Given the description of an element on the screen output the (x, y) to click on. 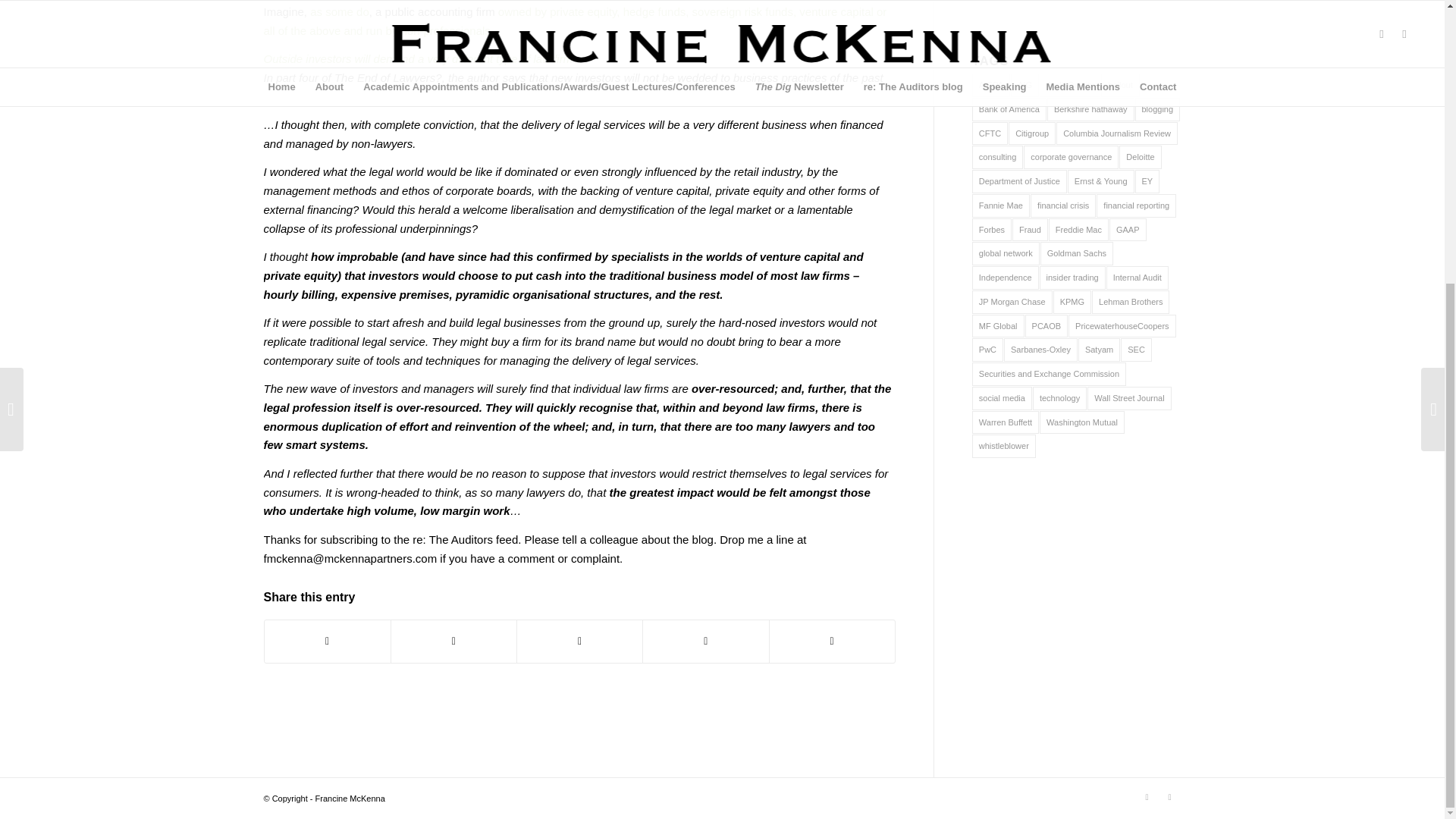
Rss (1169, 796)
as some do (339, 11)
AICPA (991, 85)
Twitter (1146, 796)
